Given the description of an element on the screen output the (x, y) to click on. 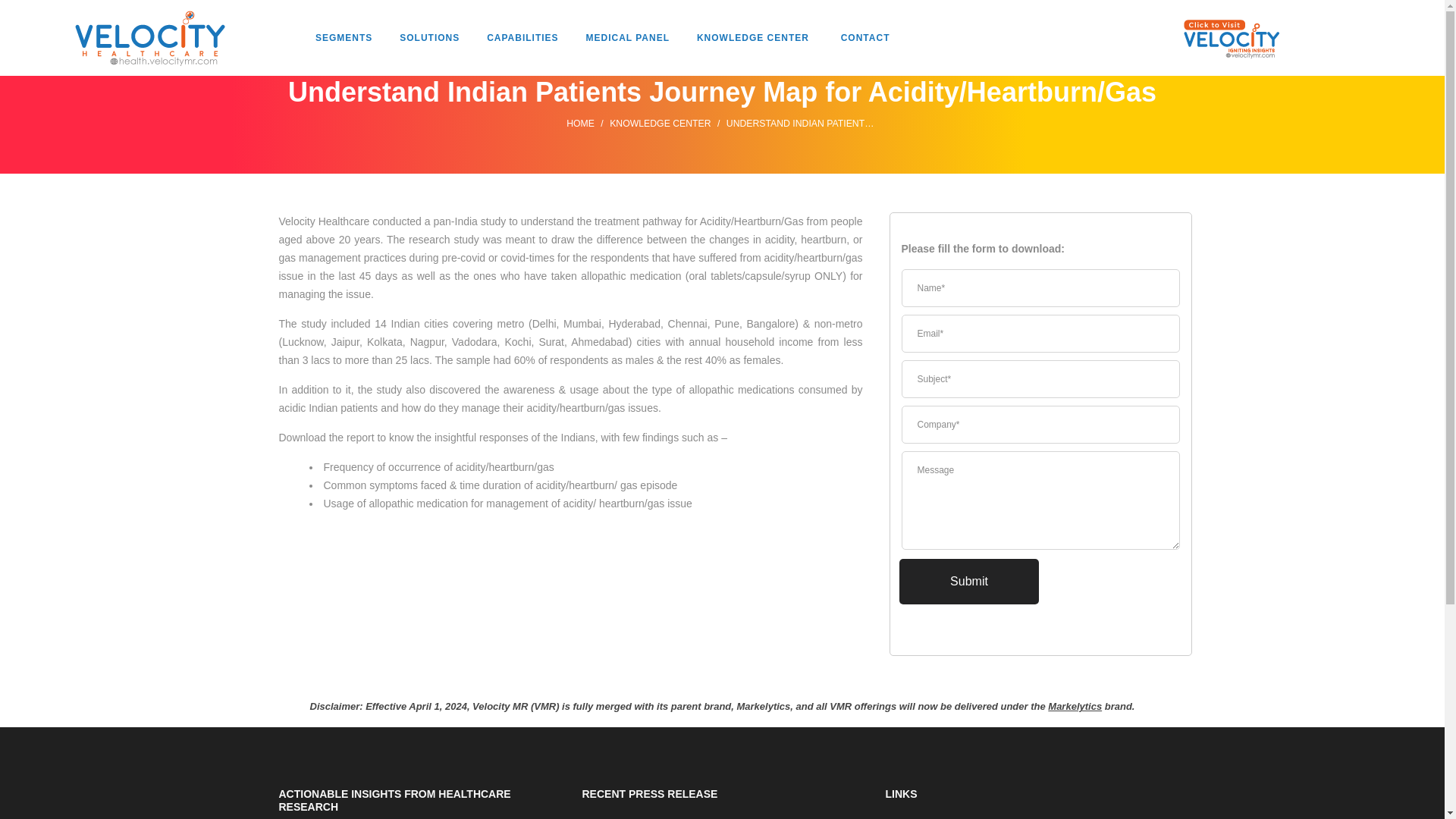
Knowledge Center (660, 122)
Markelytics (1075, 706)
MEDICAL PANEL (627, 37)
SEGMENTS (344, 37)
Home (580, 122)
SOLUTIONS (429, 37)
Submit (969, 581)
KNOWLEDGE CENTER (753, 37)
CONTACT (865, 37)
KNOWLEDGE CENTER (660, 122)
CAPABILITIES (522, 37)
Submit (969, 581)
HOME (580, 122)
